Given the description of an element on the screen output the (x, y) to click on. 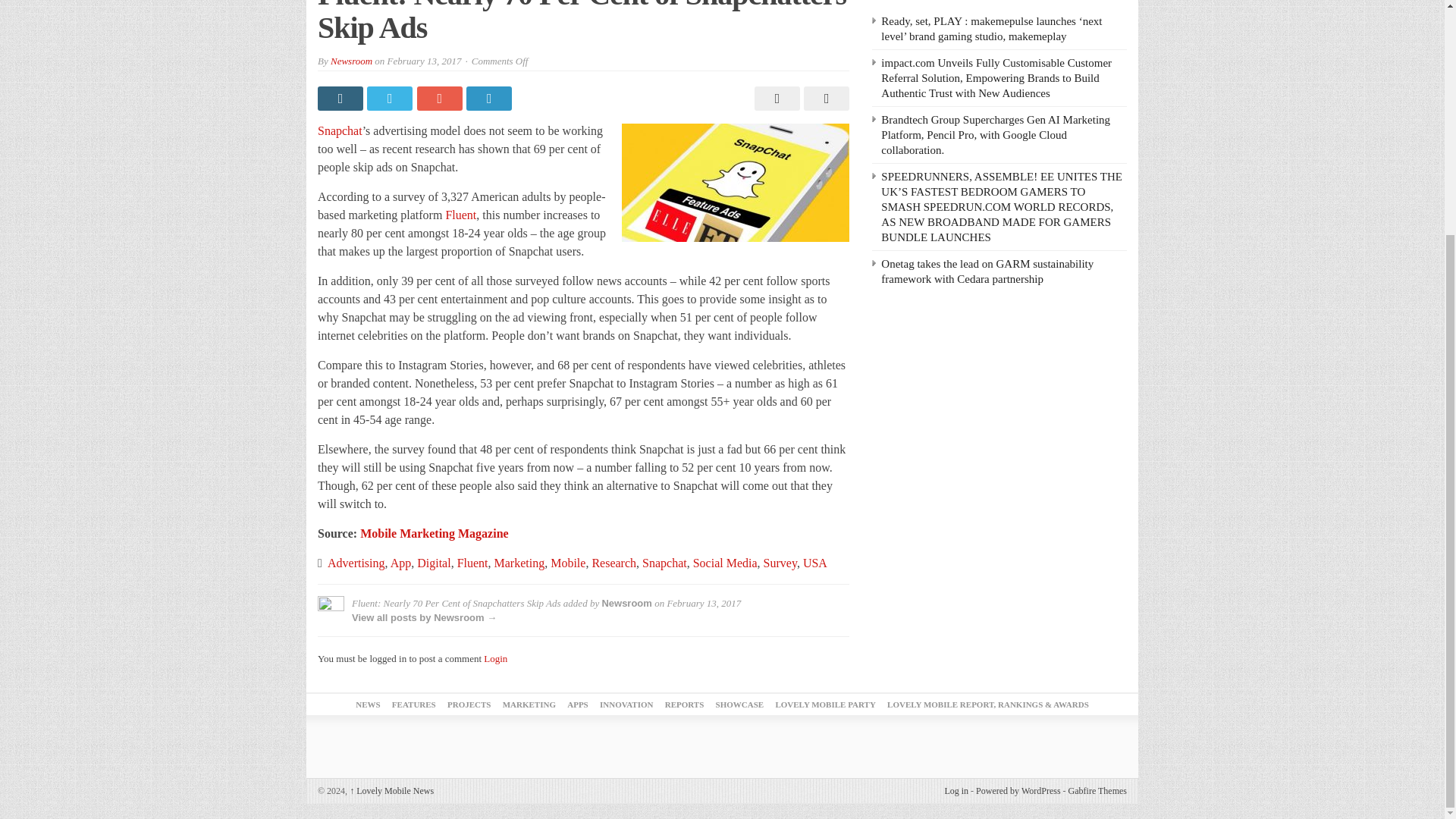
Digital (432, 562)
Share on Twitter (391, 98)
Fluent (460, 214)
Newsroom (351, 60)
Share on Facebook (341, 98)
Share on LinkedIn (490, 98)
Snapchat (339, 130)
Print This Post (775, 98)
Advertising (356, 562)
Send by Email (823, 98)
